Given the description of an element on the screen output the (x, y) to click on. 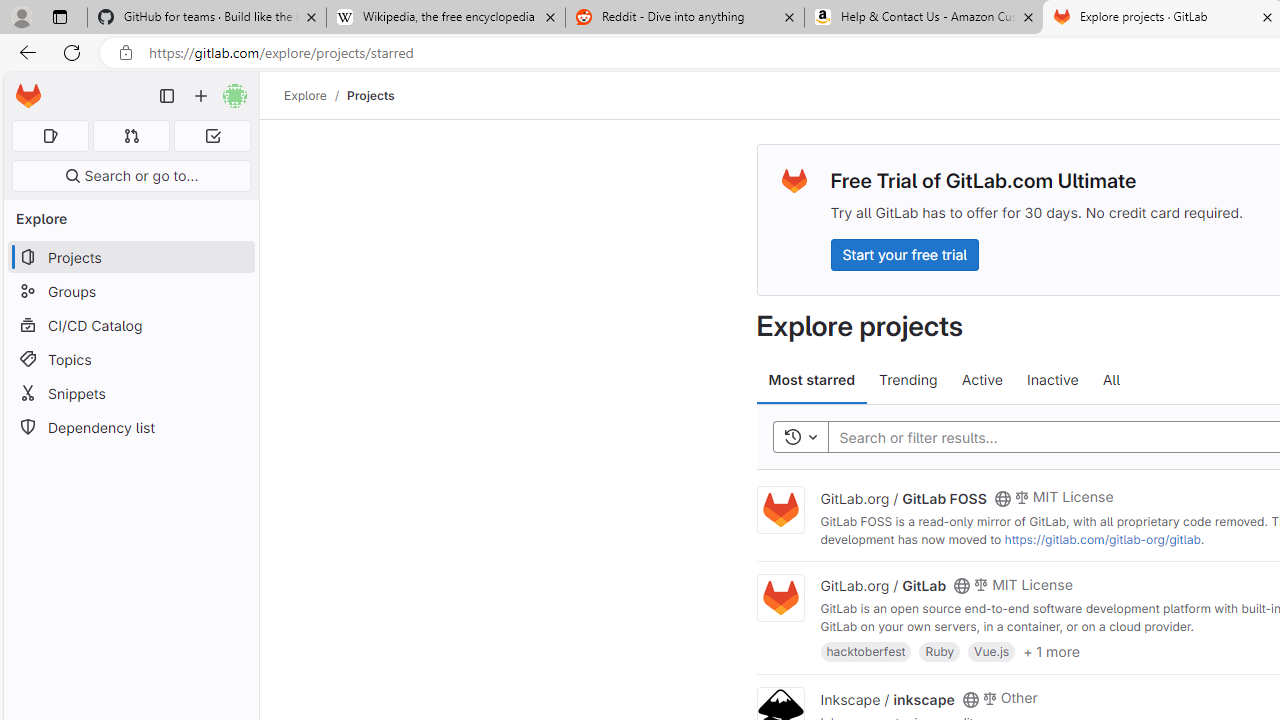
Groups (130, 291)
https://gitlab.com/gitlab-org/gitlab (1101, 539)
Explore (305, 95)
Groups (130, 291)
+ 1 more (1051, 650)
Explore/ (316, 95)
CI/CD Catalog (130, 325)
Active (982, 379)
Inkscape / inkscape (887, 698)
GitLab.org / GitLab (883, 585)
Class: s14 gl-mr-2 (989, 696)
Class: project (780, 597)
